Given the description of an element on the screen output the (x, y) to click on. 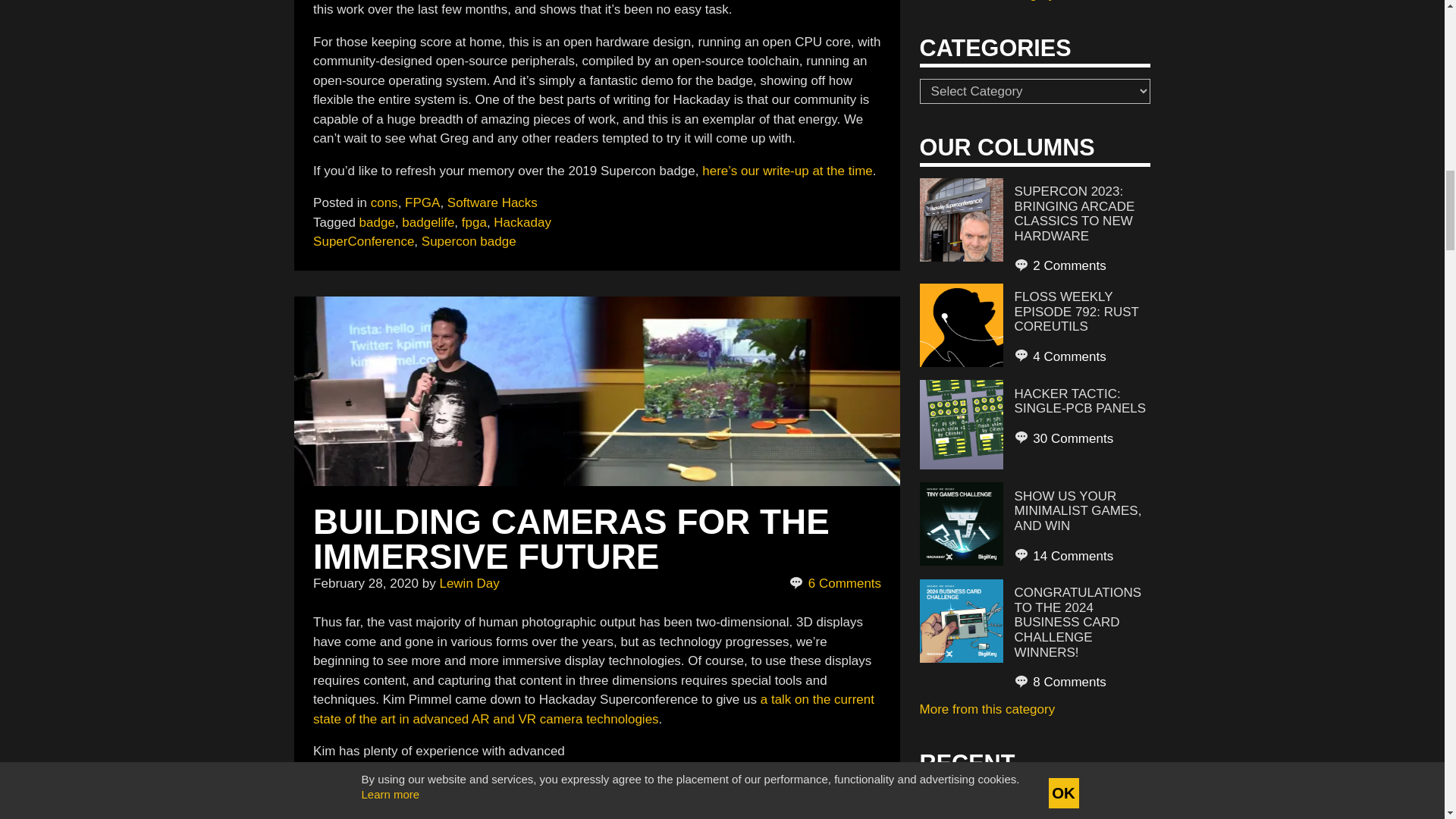
Posts by Lewin Day (469, 583)
February 28, 2020 - 12:01 pm (366, 583)
